Given the description of an element on the screen output the (x, y) to click on. 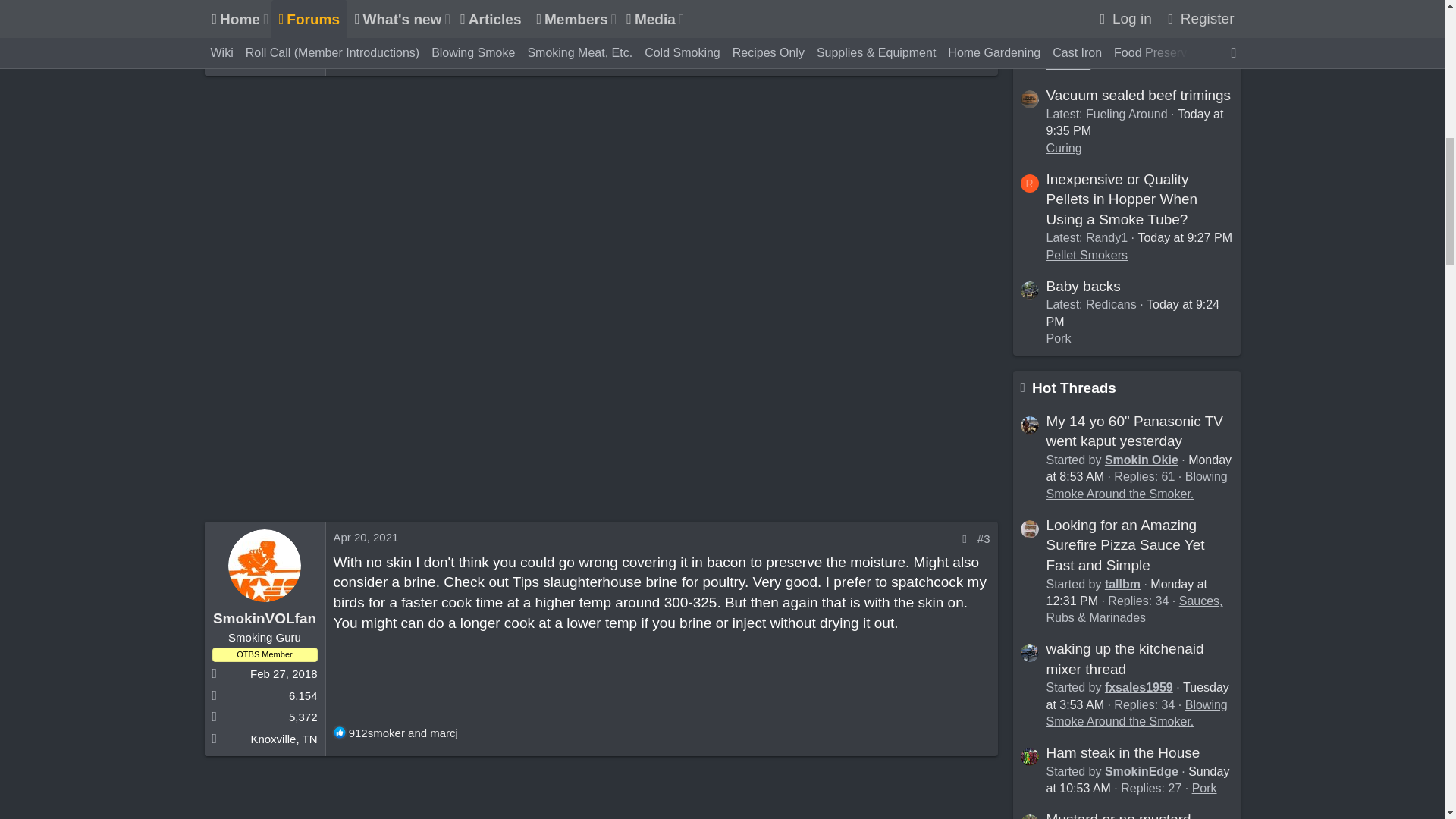
Like (339, 732)
Apr 20, 2021 at 4:00 PM (365, 536)
